Given the description of an element on the screen output the (x, y) to click on. 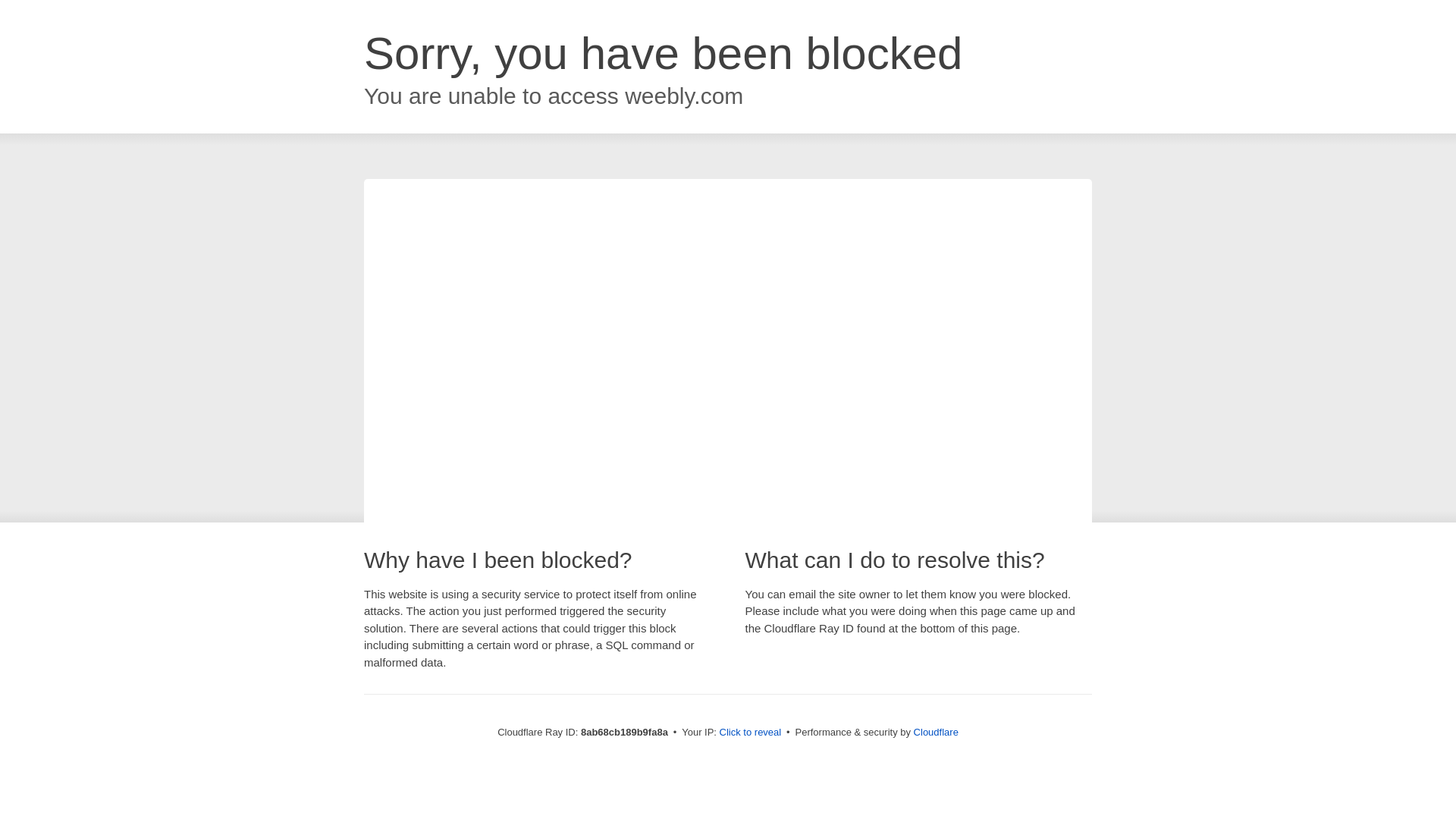
Cloudflare (936, 731)
Click to reveal (750, 732)
